Given the description of an element on the screen output the (x, y) to click on. 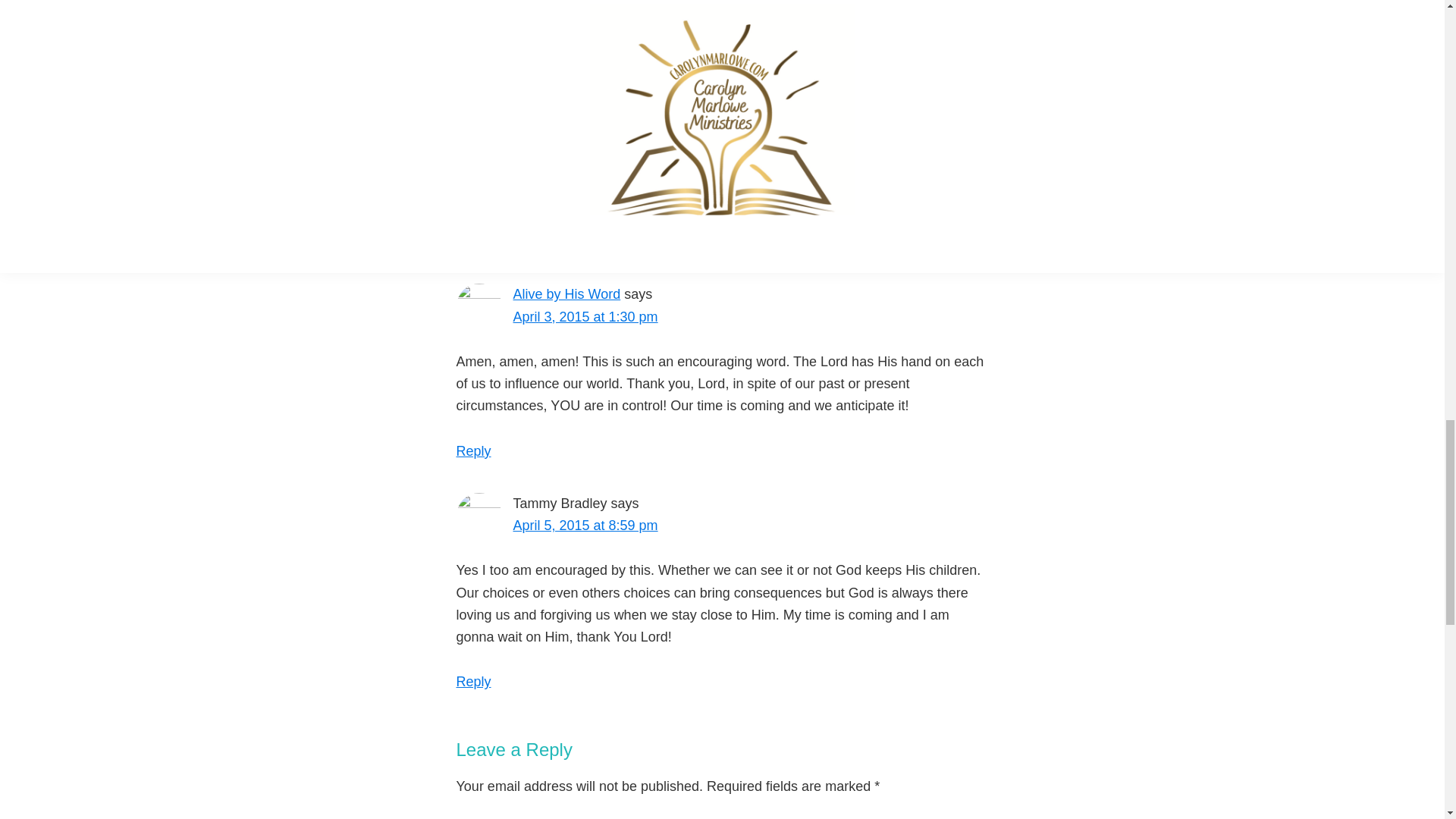
Reply (474, 450)
April 3, 2015 at 1:30 pm (585, 316)
Reply (474, 681)
April 5, 2015 at 8:59 pm (585, 525)
Uncategorized (564, 160)
Alive by His Word (566, 294)
